Given the description of an element on the screen output the (x, y) to click on. 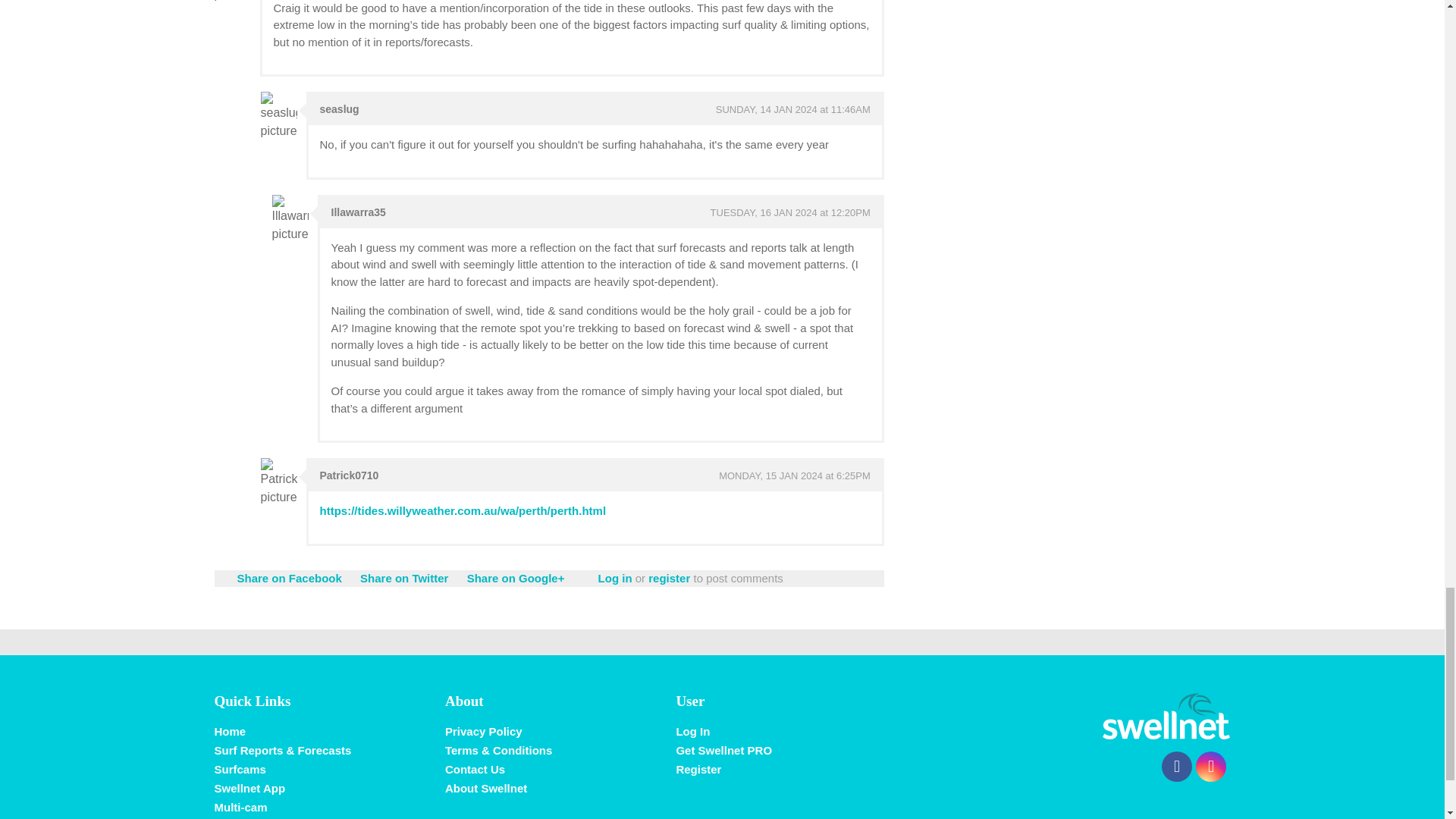
register (668, 577)
Share on Twitter (403, 577)
Log in (614, 577)
Share on Facebook (287, 577)
